Given the description of an element on the screen output the (x, y) to click on. 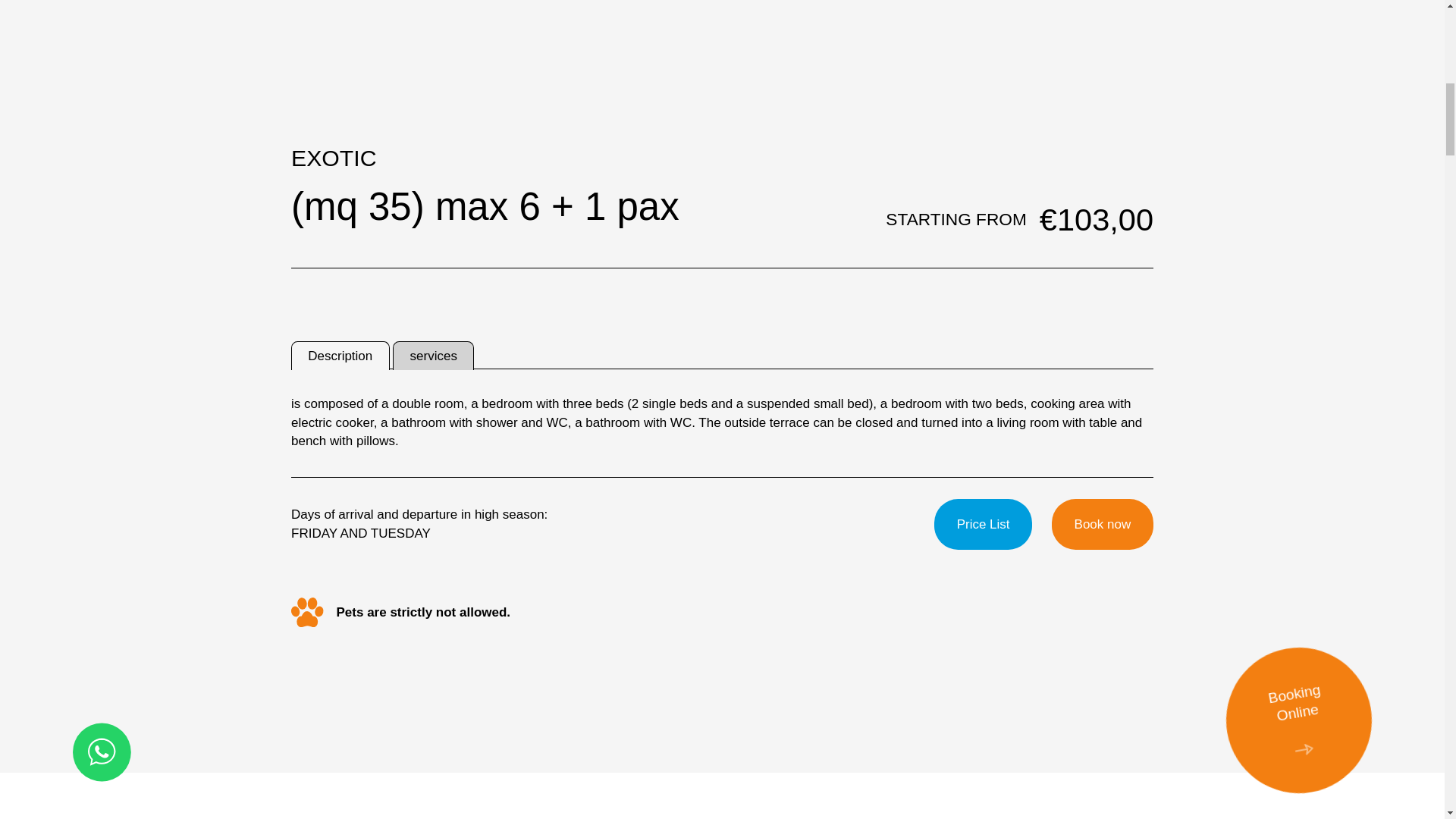
Book now (1102, 523)
Price List (983, 523)
services (433, 355)
Description (340, 355)
